Given the description of an element on the screen output the (x, y) to click on. 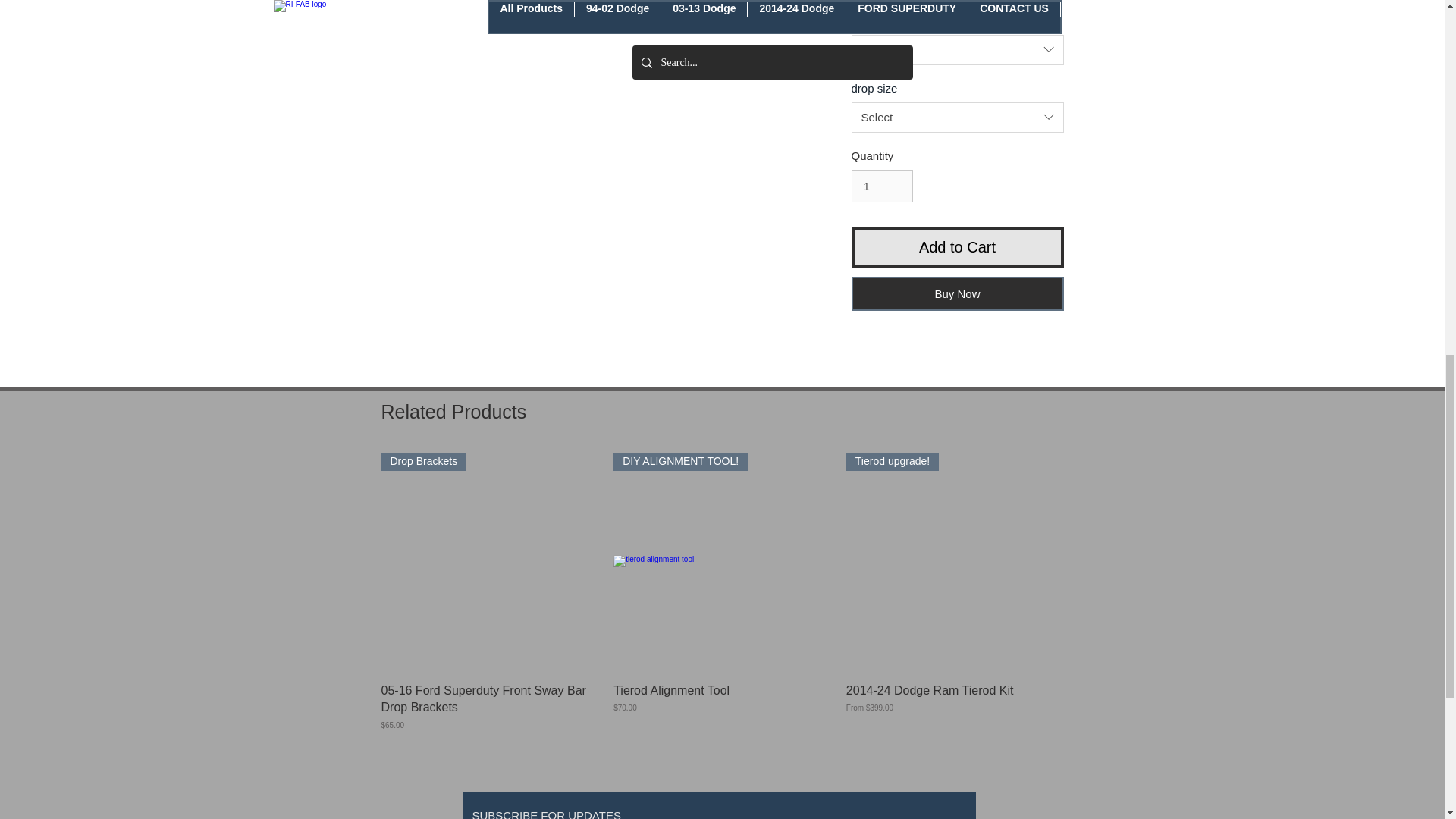
Buy Now (956, 293)
Tierod upgrade! (954, 561)
Select (956, 50)
Add to Cart (956, 246)
1 (881, 186)
DIY ALIGNMENT TOOL! (721, 561)
Drop Brackets (489, 561)
Select (956, 117)
